Given the description of an element on the screen output the (x, y) to click on. 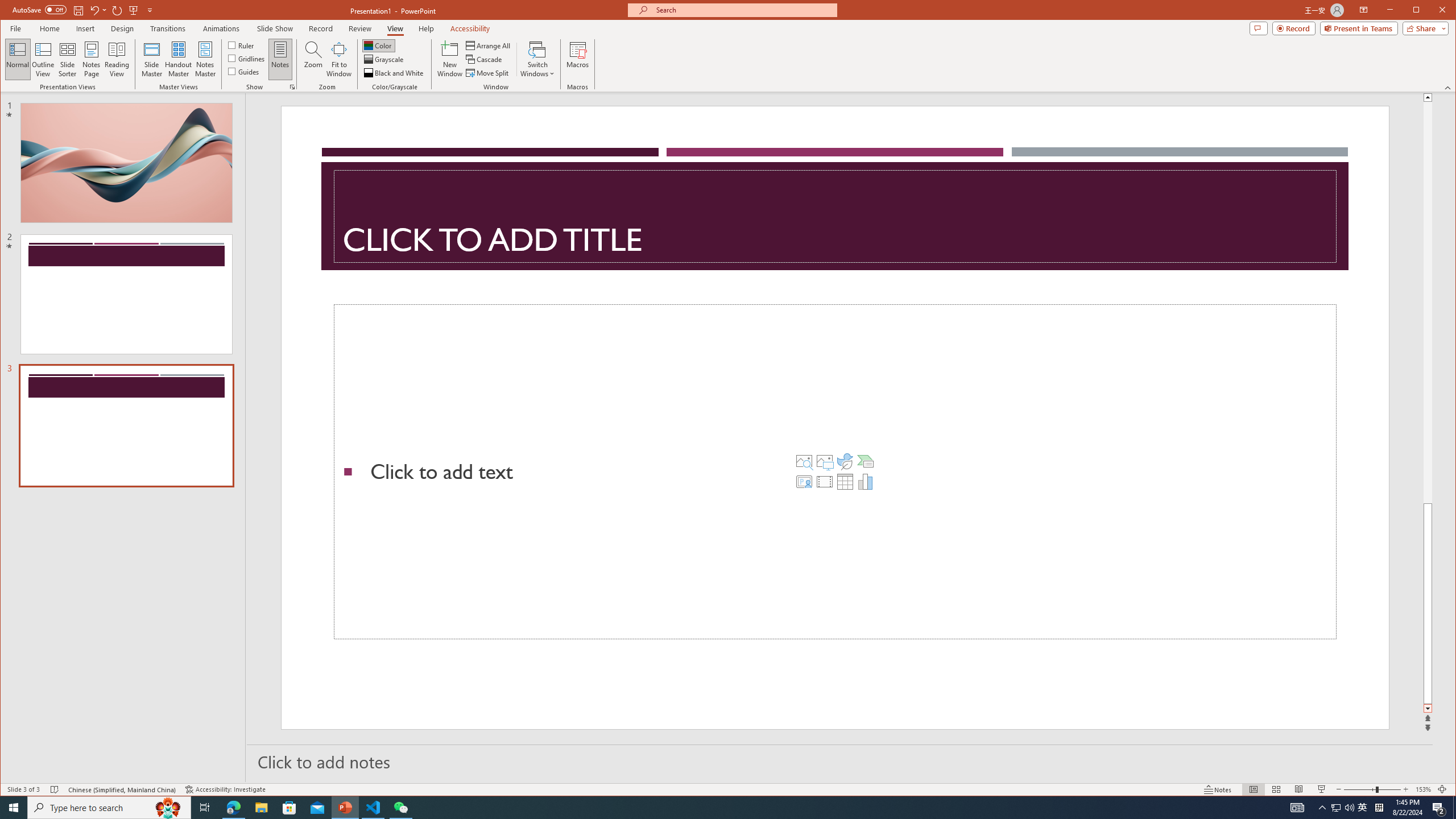
Switch Windows (537, 59)
WeChat - 1 running window (400, 807)
Zoom 153% (1422, 789)
Notes (279, 59)
Notes Master (204, 59)
